Given the description of an element on the screen output the (x, y) to click on. 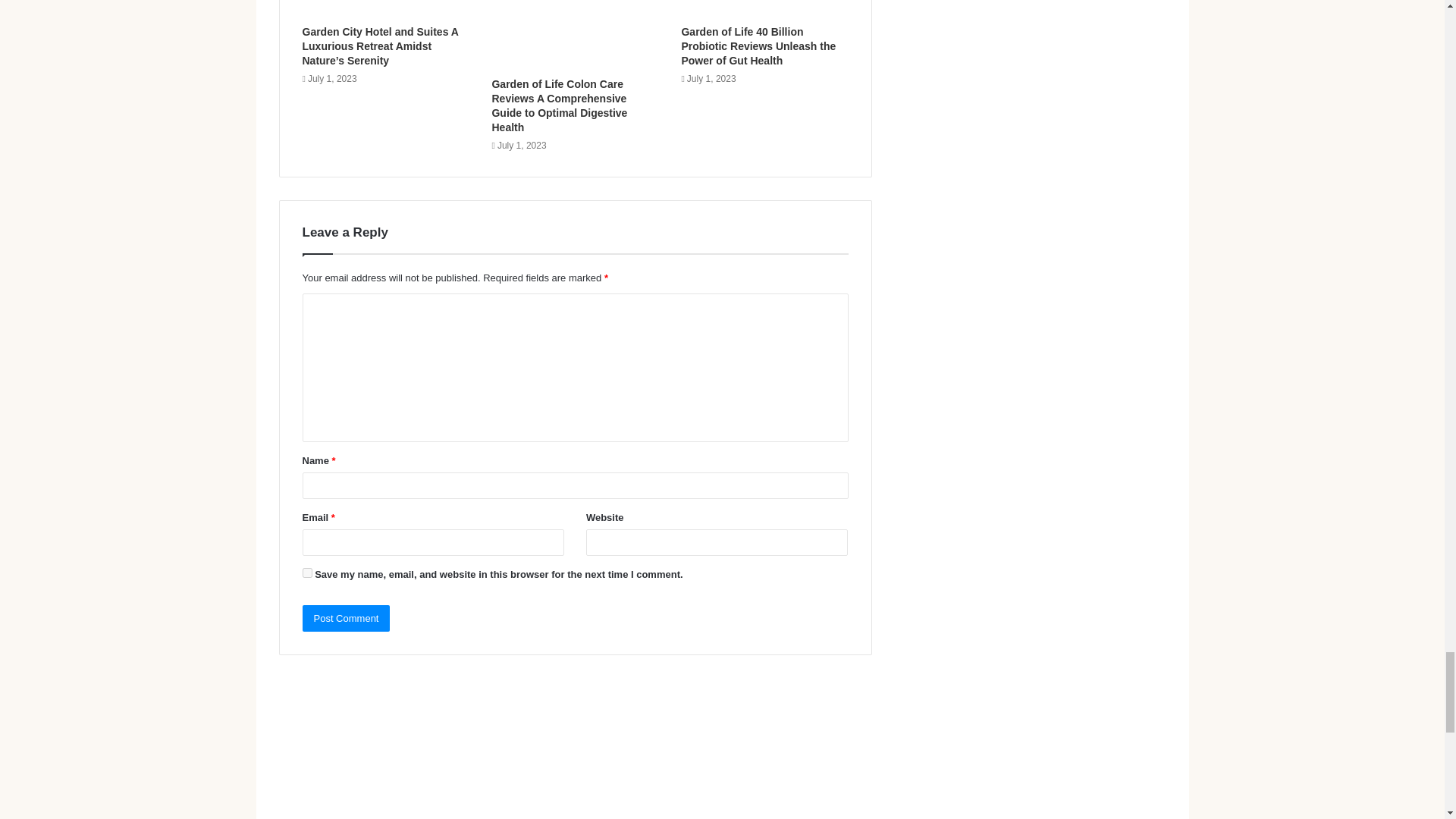
Post Comment (345, 618)
yes (306, 573)
